Given the description of an element on the screen output the (x, y) to click on. 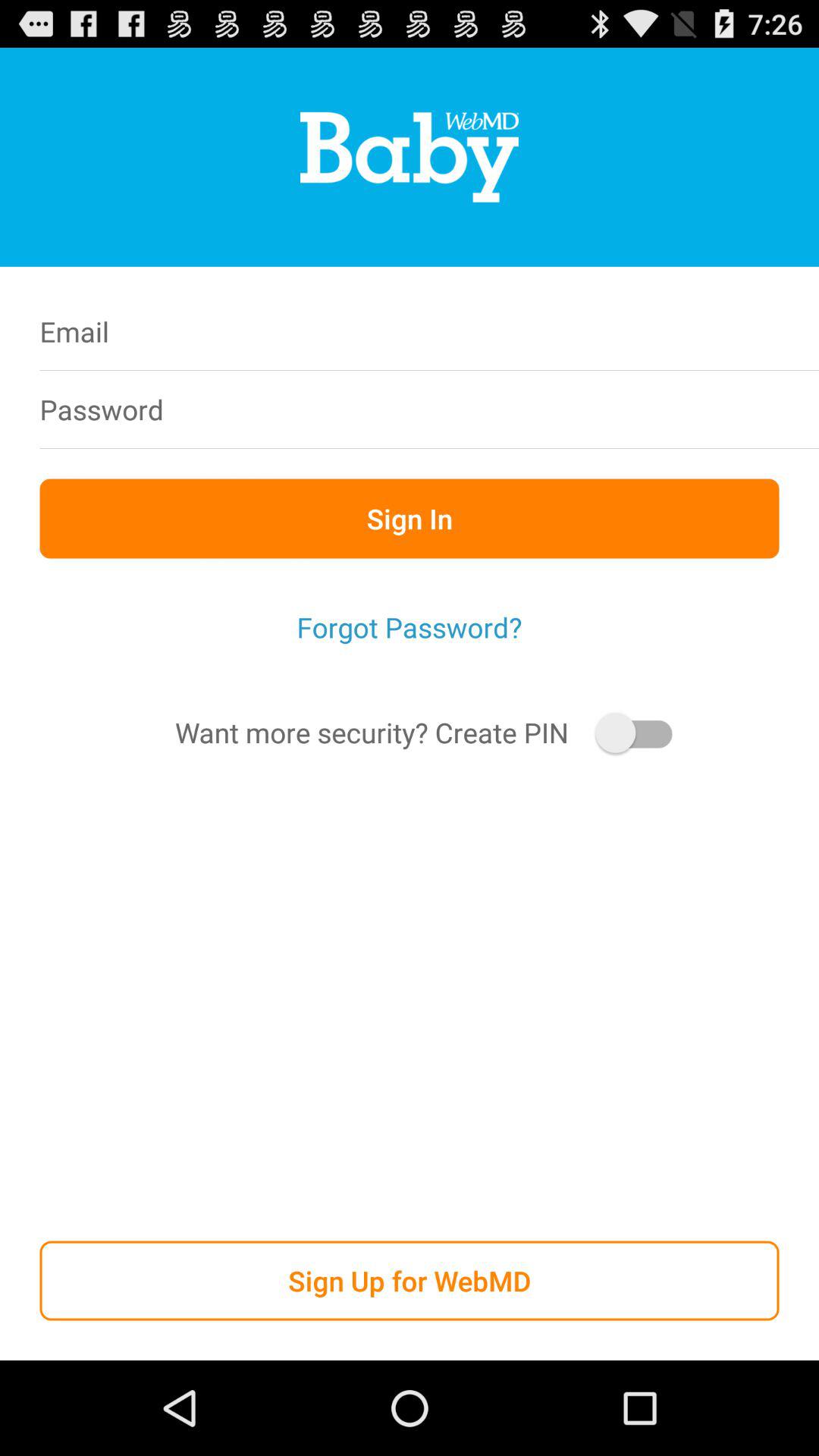
go to password (507, 409)
